Given the description of an element on the screen output the (x, y) to click on. 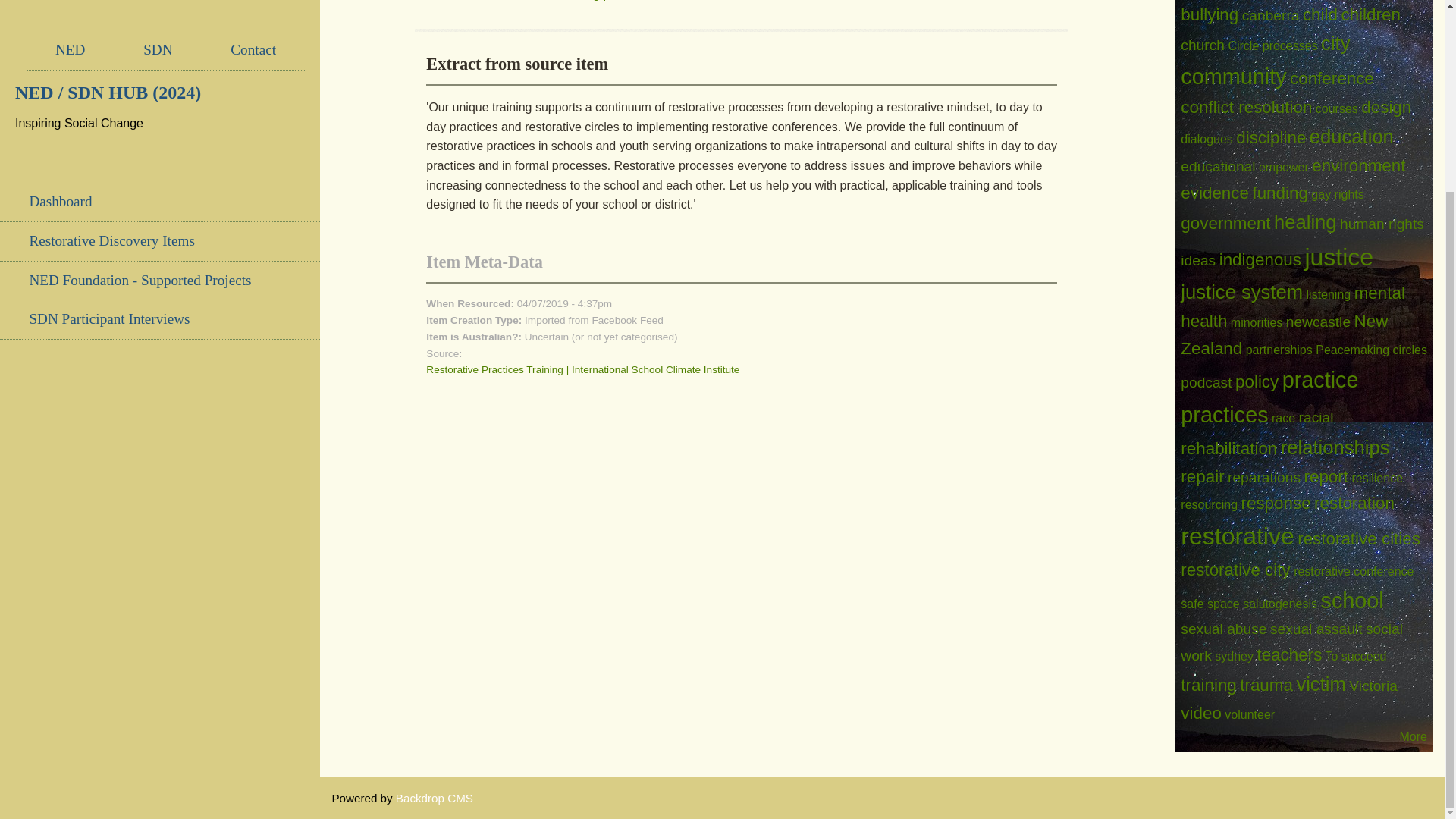
Restorative Discovery Items (160, 11)
bullying (1209, 13)
church (1202, 44)
canberra (1270, 15)
discipline (1271, 137)
empower (1283, 166)
city (1334, 43)
NED Foundation - Supported Projects (160, 41)
SDN Participant Interviews (160, 79)
courses (1337, 108)
